Given the description of an element on the screen output the (x, y) to click on. 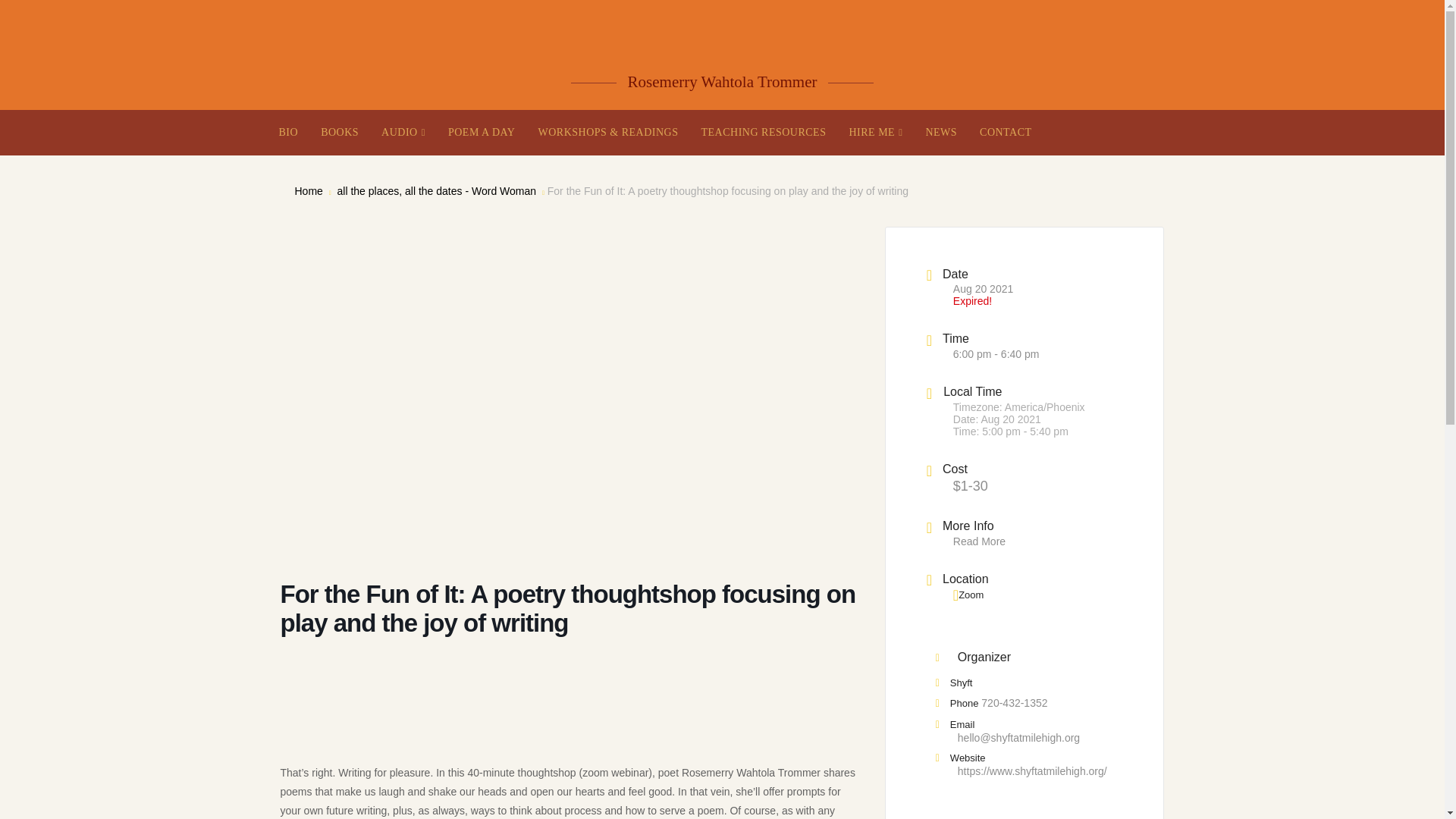
Home (307, 191)
CONTACT (1005, 132)
720-432-1352 (1013, 702)
all the places, all the dates - Word Woman (435, 191)
TEACHING RESOURCES (762, 132)
POEM A DAY (481, 132)
Read More (979, 541)
HIRE ME (875, 132)
AUDIO (403, 132)
